Given the description of an element on the screen output the (x, y) to click on. 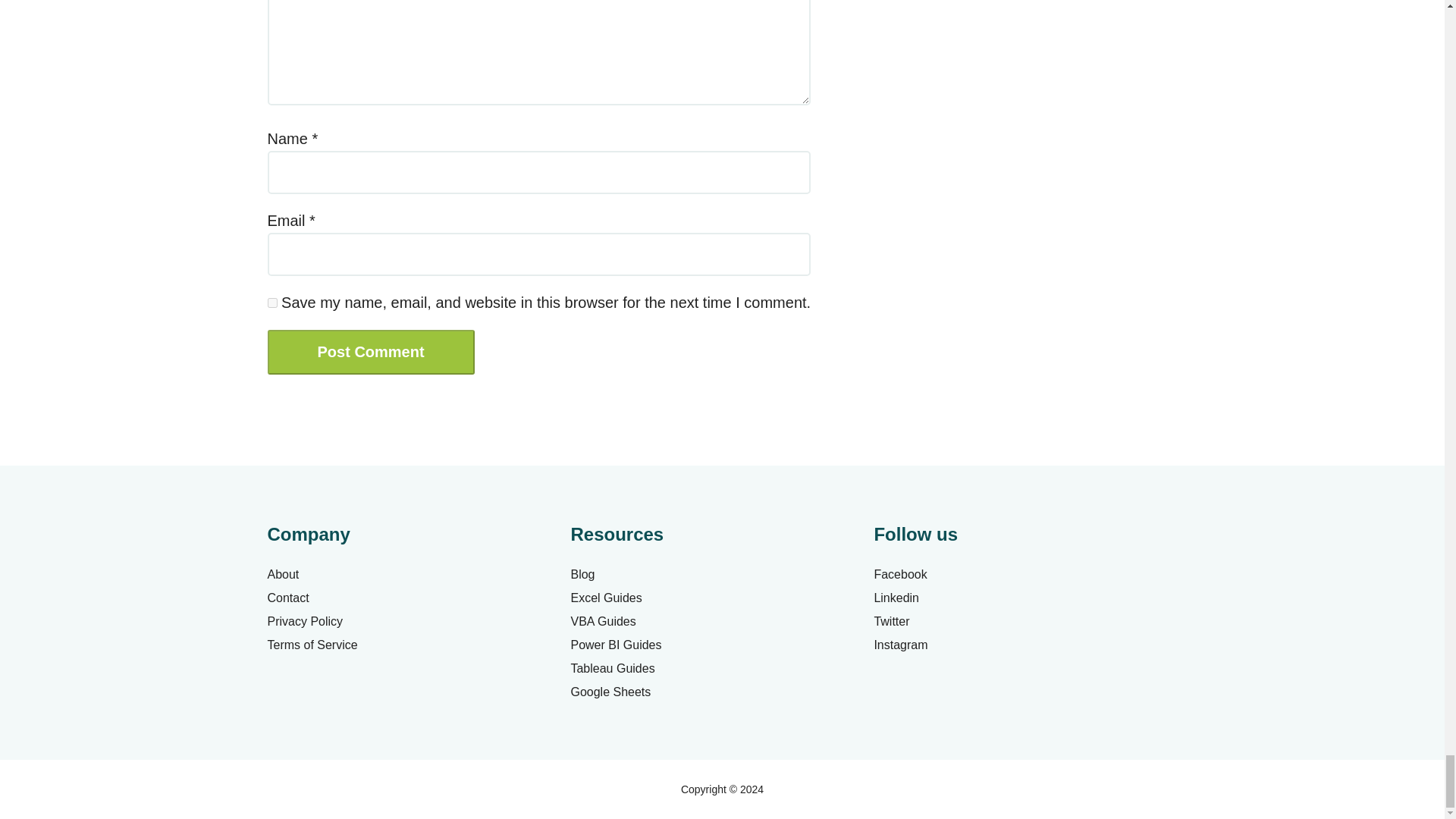
yes (271, 302)
Post Comment (370, 352)
